Given the description of an element on the screen output the (x, y) to click on. 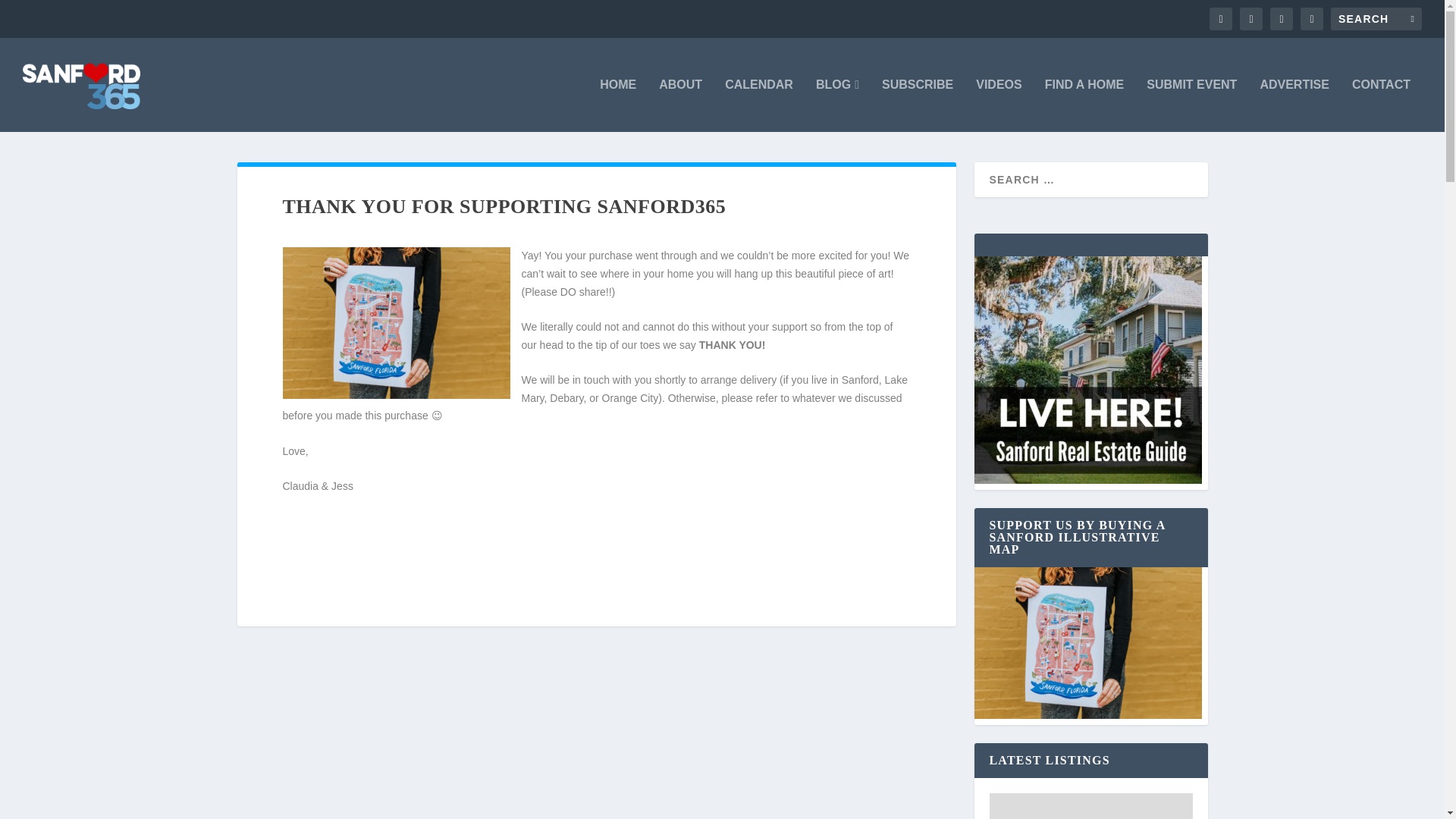
SUBMIT EVENT (1191, 104)
SUBSCRIBE (917, 104)
CALENDAR (759, 104)
4146 Odyssey Way (1090, 806)
Search for: (1376, 18)
CONTACT (1381, 104)
FIND A HOME (1084, 104)
Search (31, 13)
ADVERTISE (1294, 104)
